Given the description of an element on the screen output the (x, y) to click on. 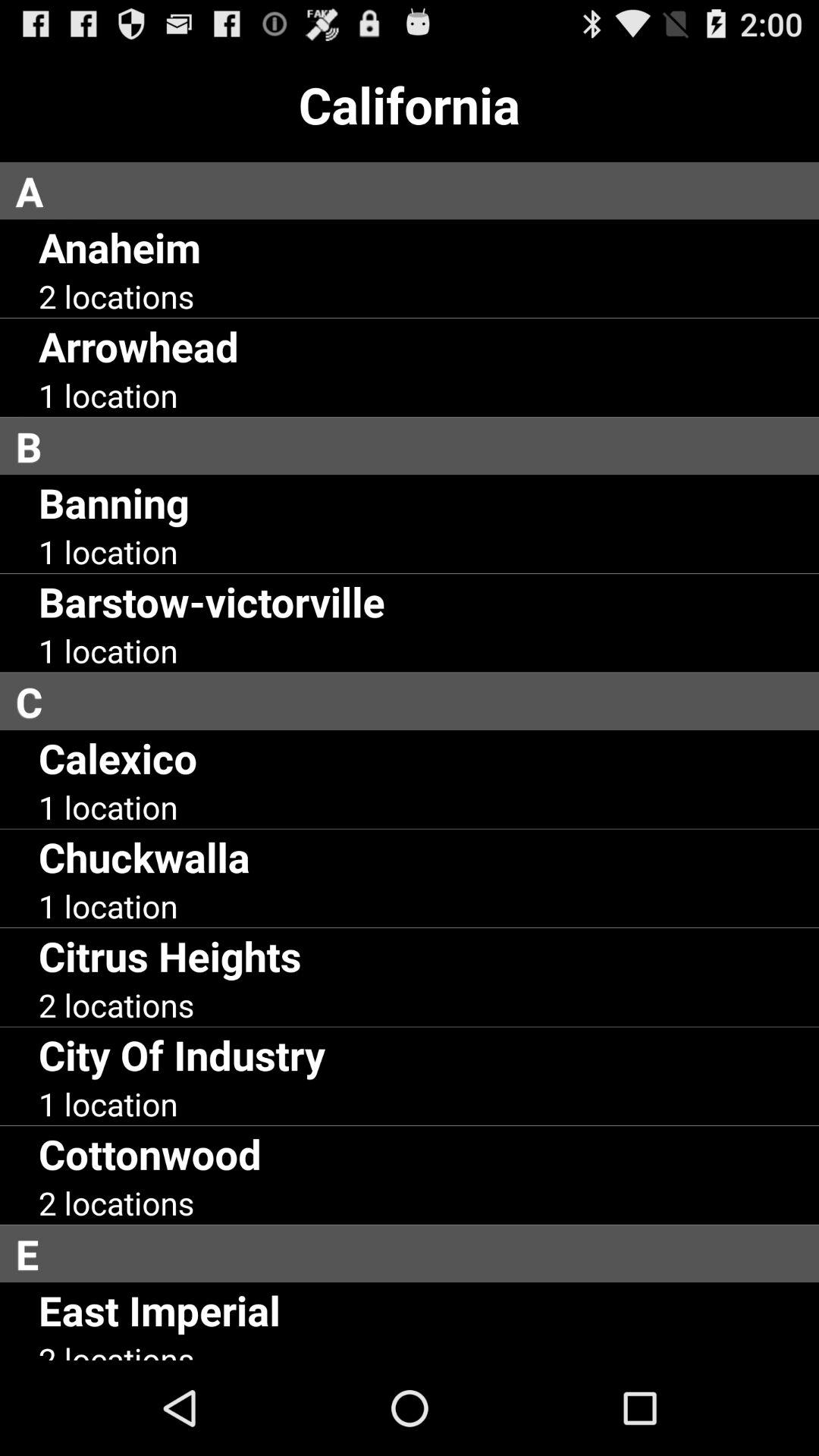
open item below the 2 locations (181, 1054)
